Given the description of an element on the screen output the (x, y) to click on. 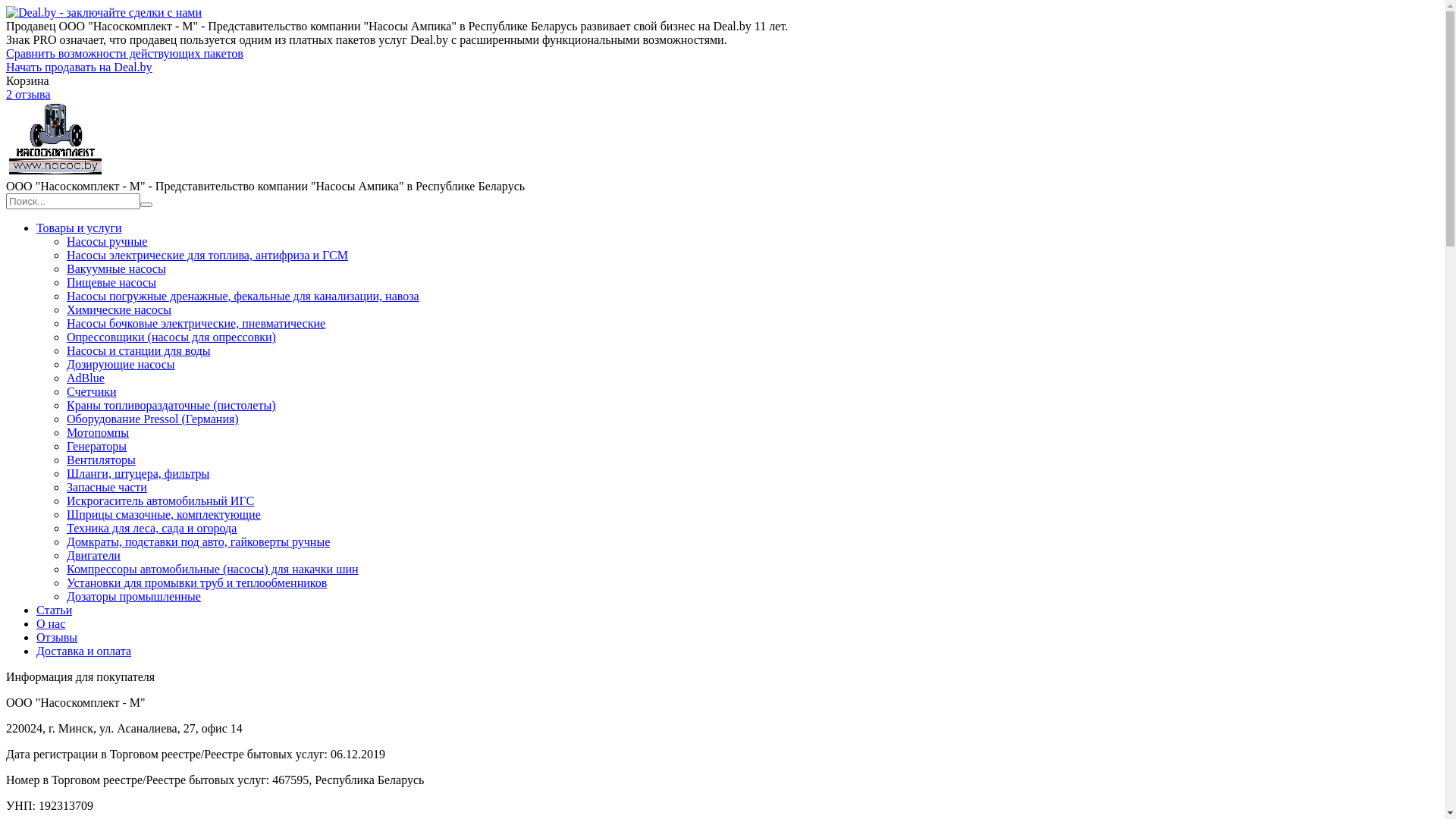
AdBlue Element type: text (85, 377)
